Given the description of an element on the screen output the (x, y) to click on. 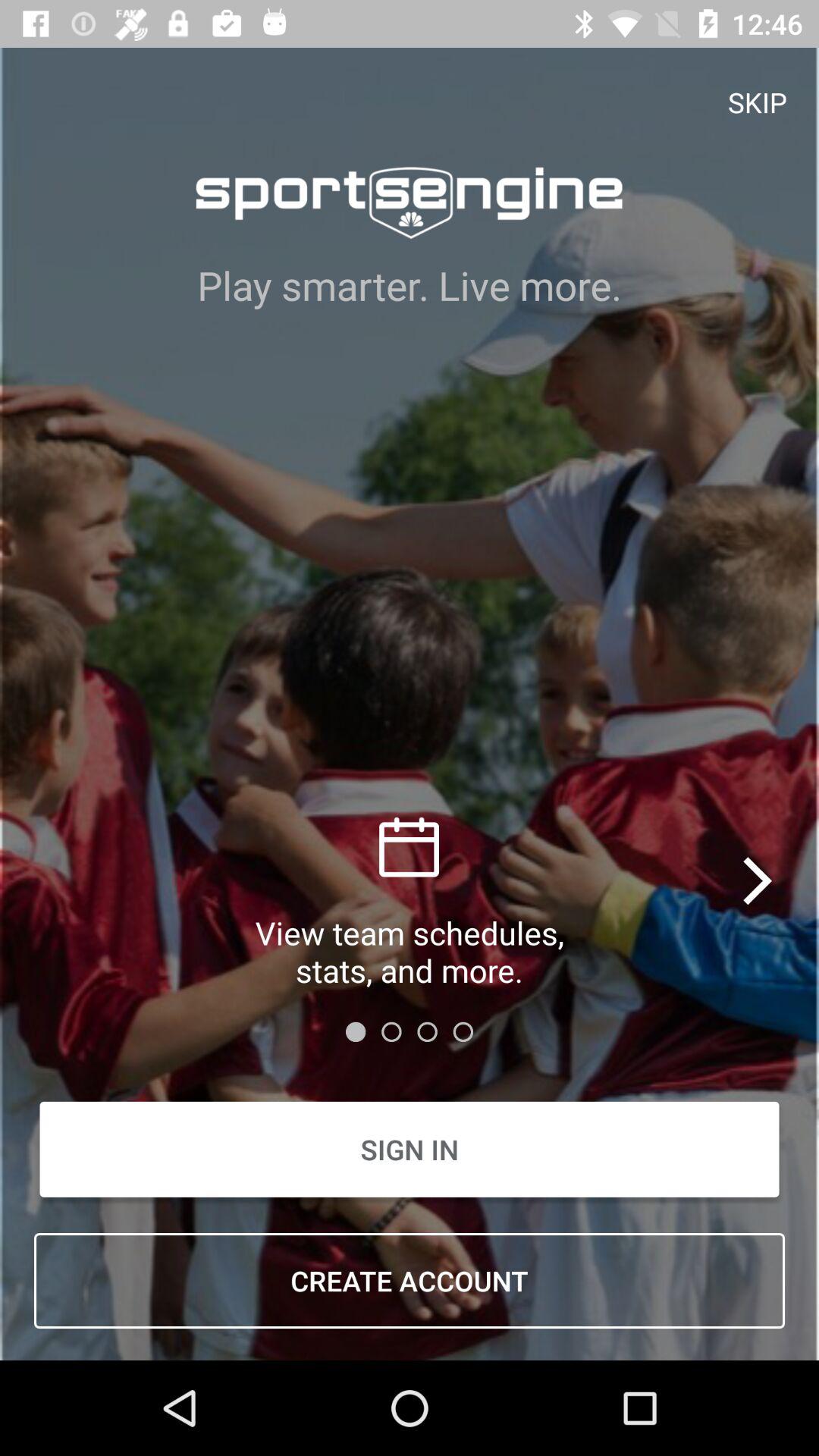
launch skip (757, 102)
